Given the description of an element on the screen output the (x, y) to click on. 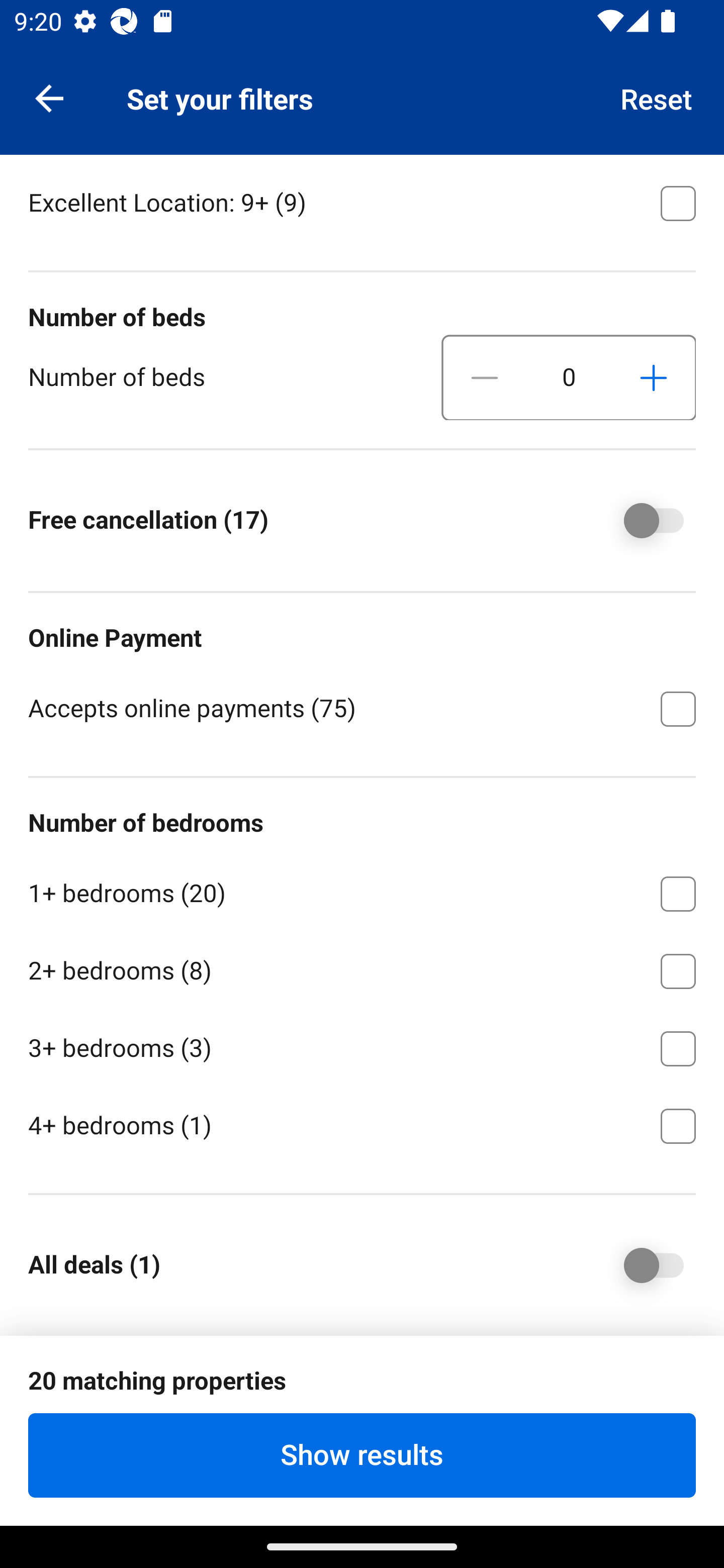
Navigate up (49, 97)
Reset (656, 97)
Excellent Location: 9+ ⁦(9) (361, 201)
Decrease (484, 377)
Increase (653, 377)
Free cancellation ⁦(17) (639, 520)
Accepts online payments ⁦(75) (361, 706)
1+ bedrooms ⁦(20) (361, 890)
2+ bedrooms ⁦(8) (361, 967)
3+ bedrooms ⁦(3) (361, 1044)
4+ bedrooms ⁦(1) (361, 1124)
All deals ⁦(1) (639, 1265)
Show results (361, 1454)
